Given the description of an element on the screen output the (x, y) to click on. 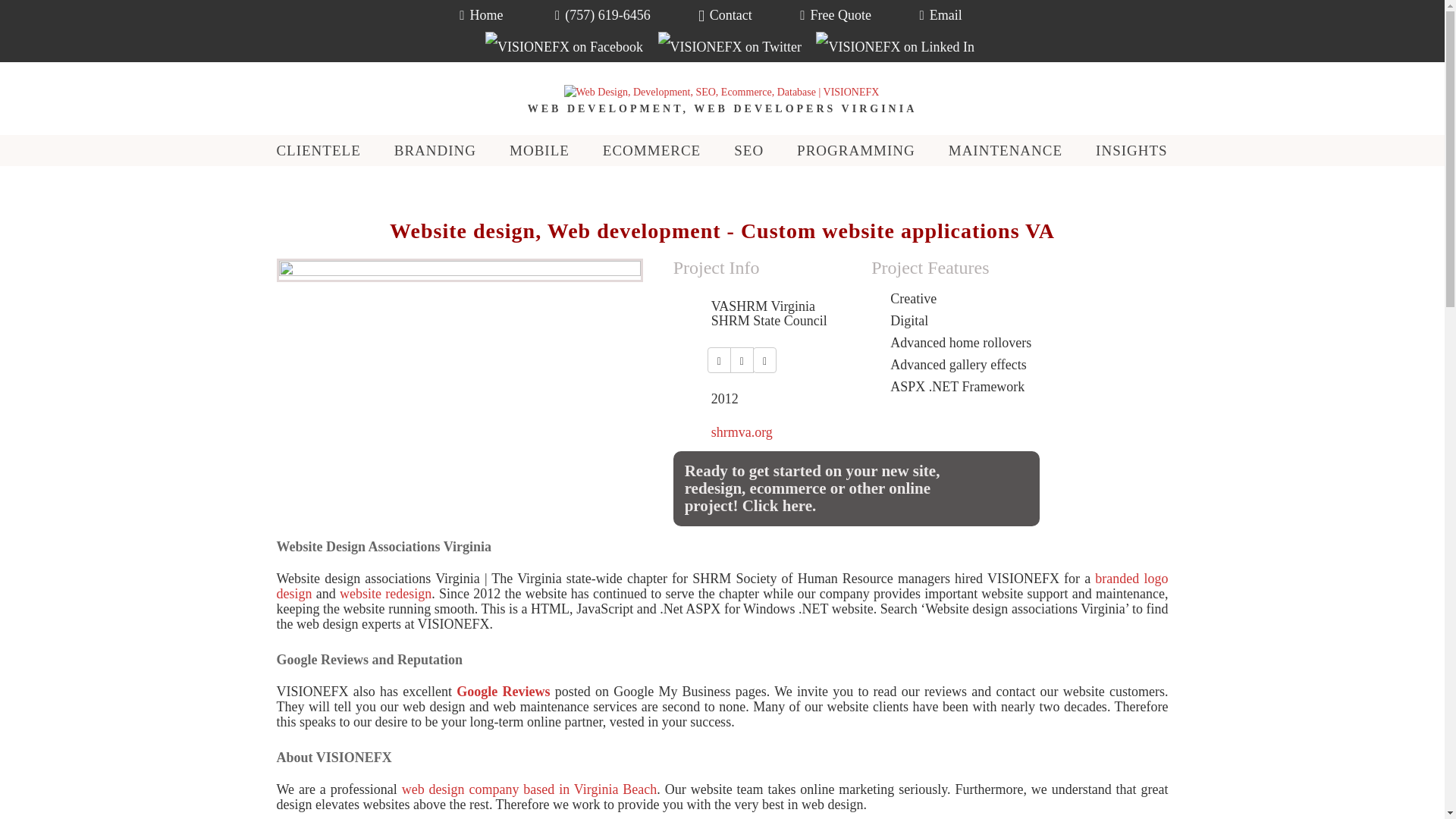
MAINTENANCE (1005, 150)
website redesign (384, 593)
shrmva.org (742, 432)
Google Reviews (503, 691)
Contact (725, 14)
SEO (748, 150)
CLIENTELE (318, 150)
PROGRAMMING (855, 150)
INSIGHTS (1132, 150)
